Given the description of an element on the screen output the (x, y) to click on. 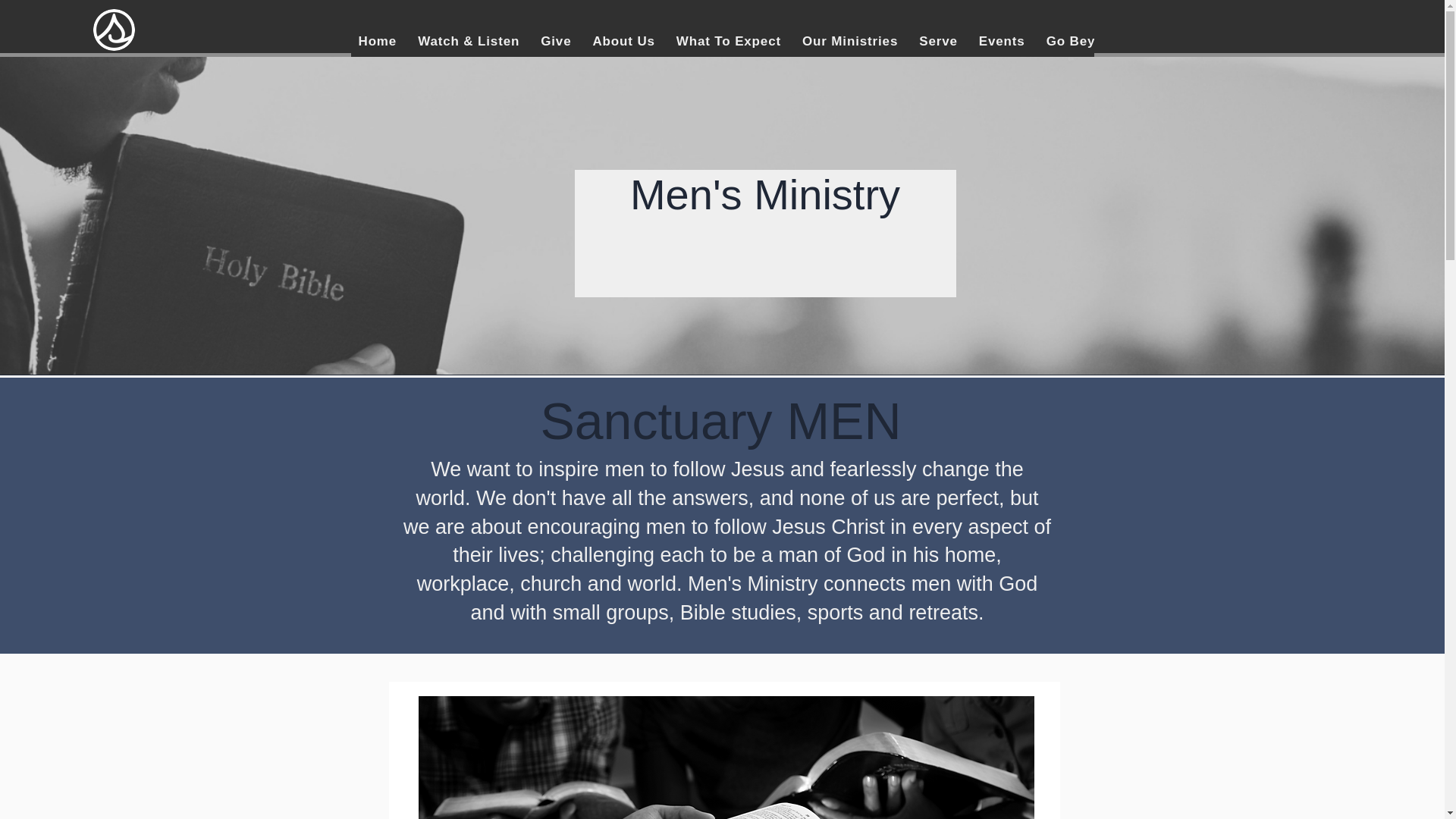
About Us (623, 41)
What To Expect (728, 41)
Give (555, 41)
Go Beyond (1083, 41)
Events (1001, 41)
Serve (938, 41)
Home (377, 41)
